Given the description of an element on the screen output the (x, y) to click on. 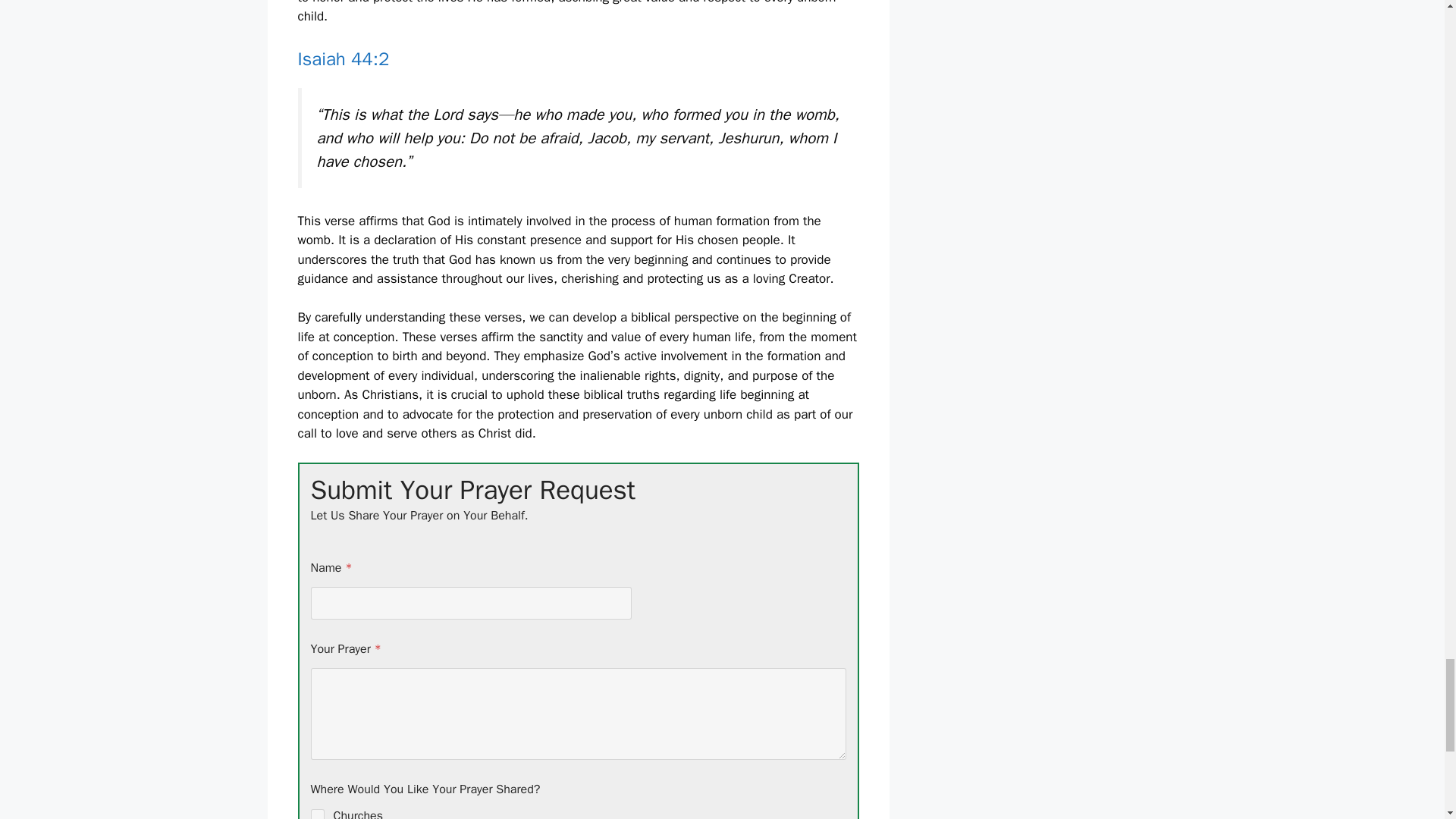
Churches (318, 814)
